Given the description of an element on the screen output the (x, y) to click on. 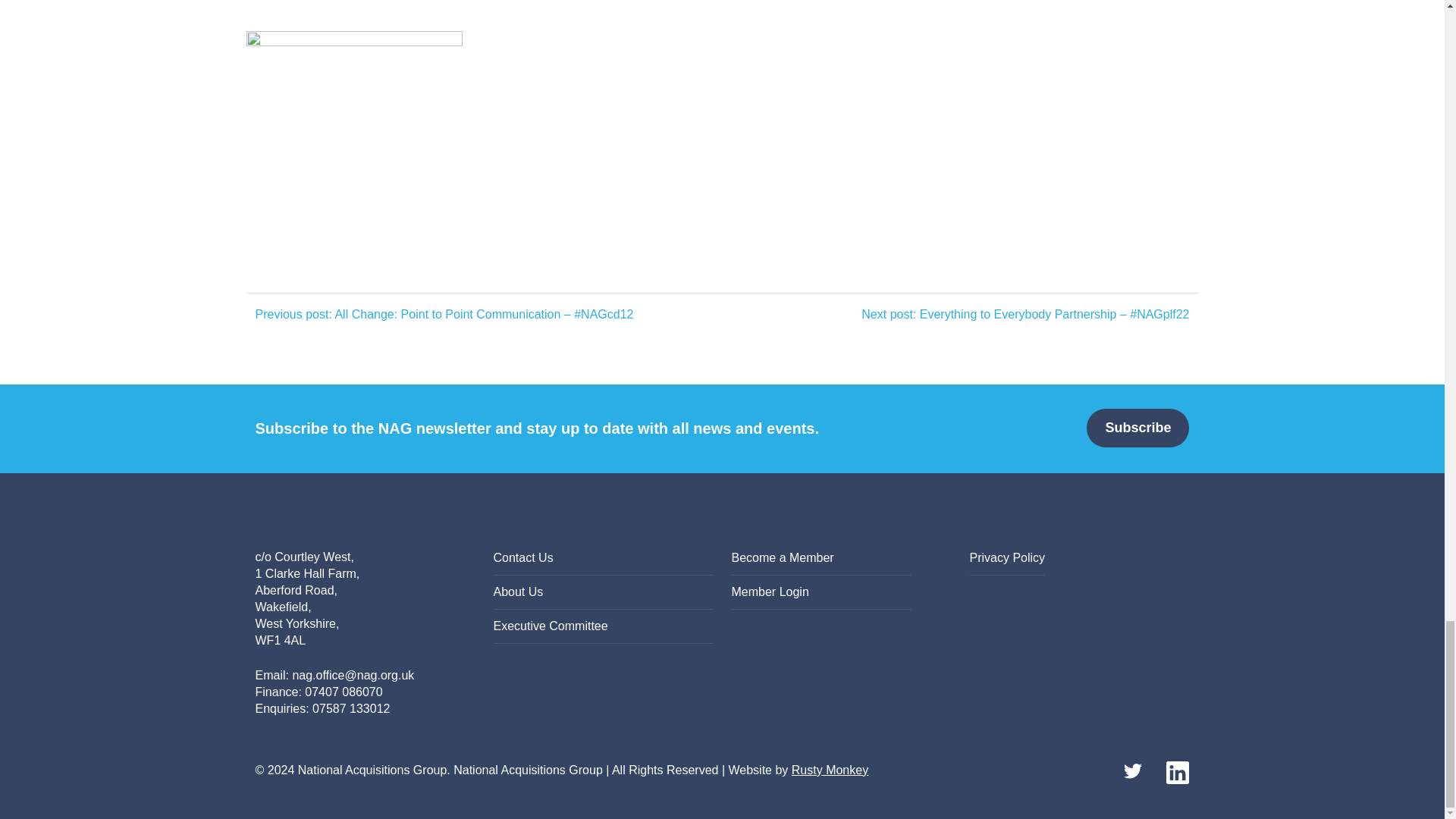
linkedin logo (1177, 771)
twitter logo (1135, 771)
